Given the description of an element on the screen output the (x, y) to click on. 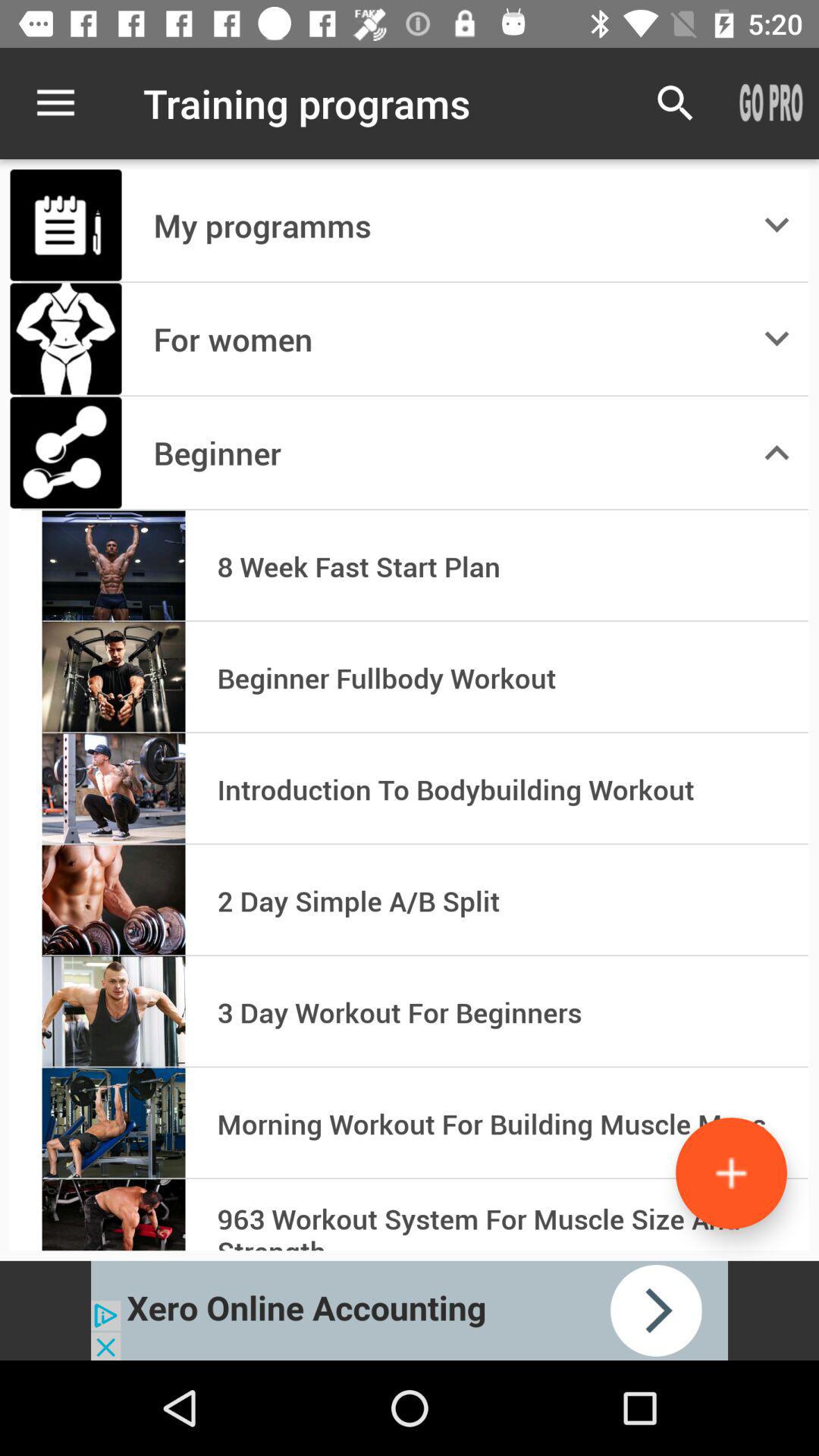
addition the option (731, 1173)
